Given the description of an element on the screen output the (x, y) to click on. 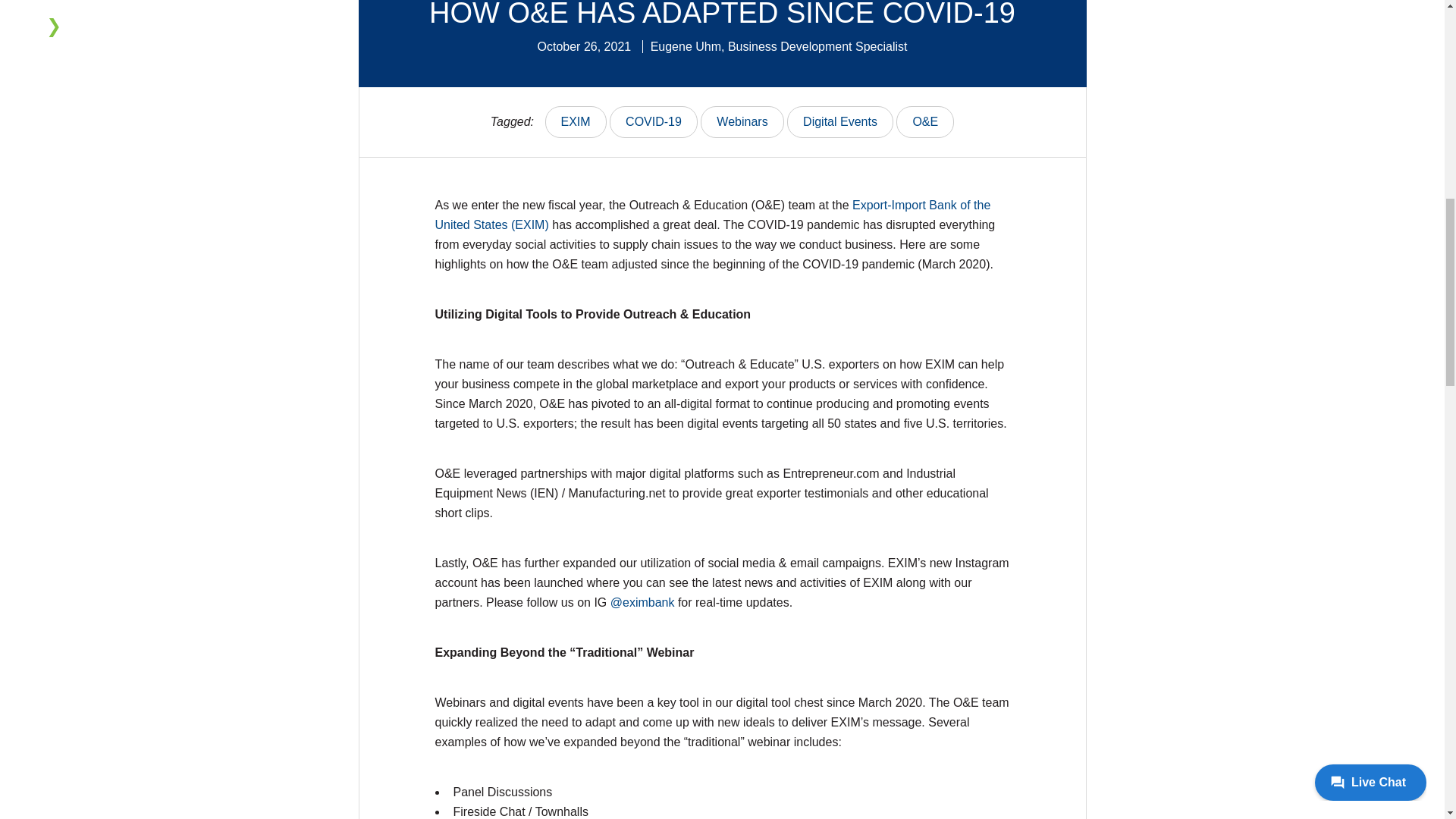
EXIM (575, 122)
COVID-19 (653, 122)
Digital Events (840, 122)
Webinars (741, 122)
